Given the description of an element on the screen output the (x, y) to click on. 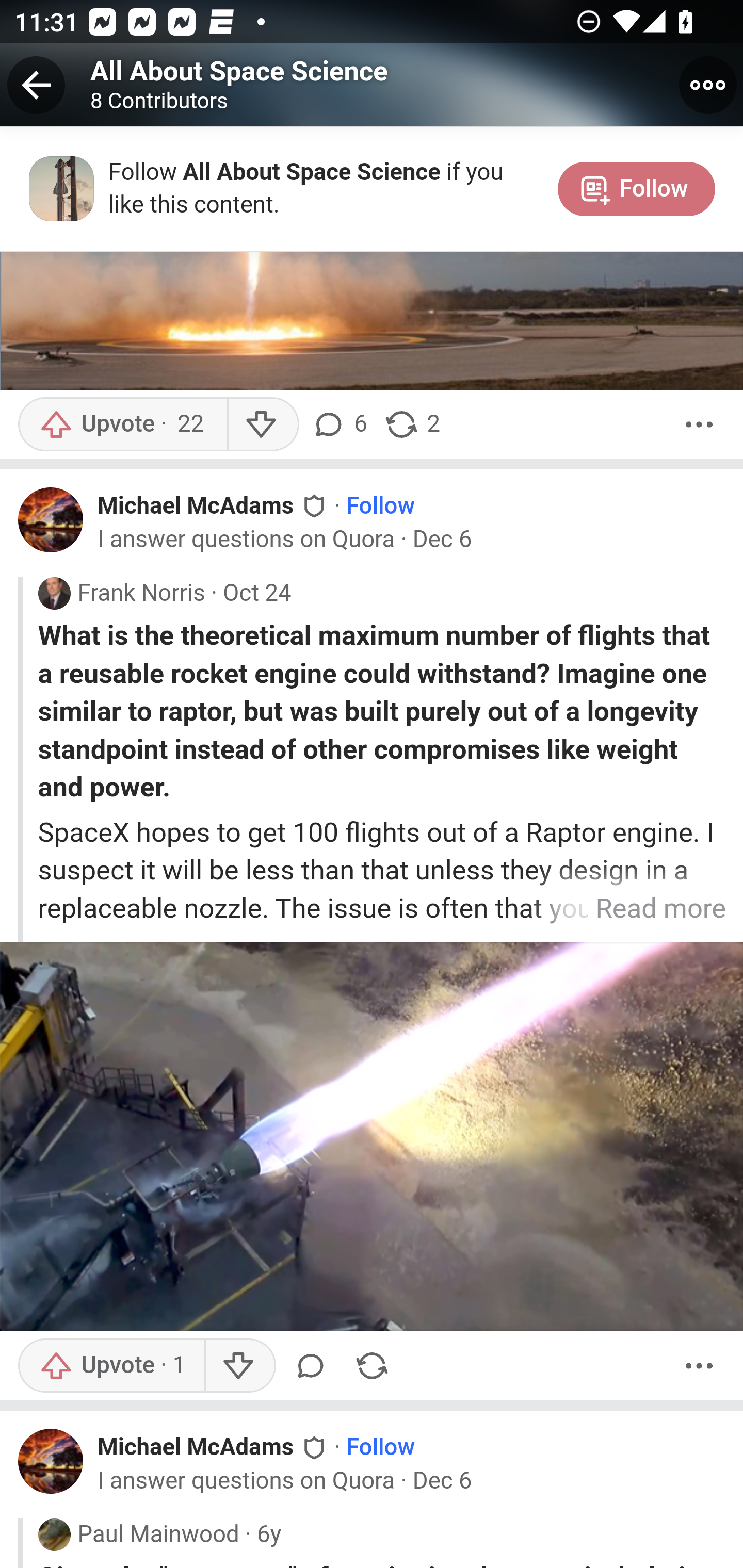
Upvote (122, 424)
Downvote (262, 424)
6 comments (342, 424)
2 shares (411, 424)
More (699, 424)
Profile photo for Michael McAdams (50, 520)
Michael McAdams Michael McAdams   (213, 505)
Follow (380, 506)
Dec 6 (442, 539)
Profile photo for Frank Norris (54, 592)
Upvote (111, 1365)
Downvote (238, 1365)
Comment (313, 1365)
Share (372, 1365)
More (699, 1365)
Profile photo for Michael McAdams (50, 1461)
Michael McAdams Michael McAdams   (213, 1447)
Follow (380, 1448)
Profile photo for Paul Mainwood (54, 1534)
